Given the description of an element on the screen output the (x, y) to click on. 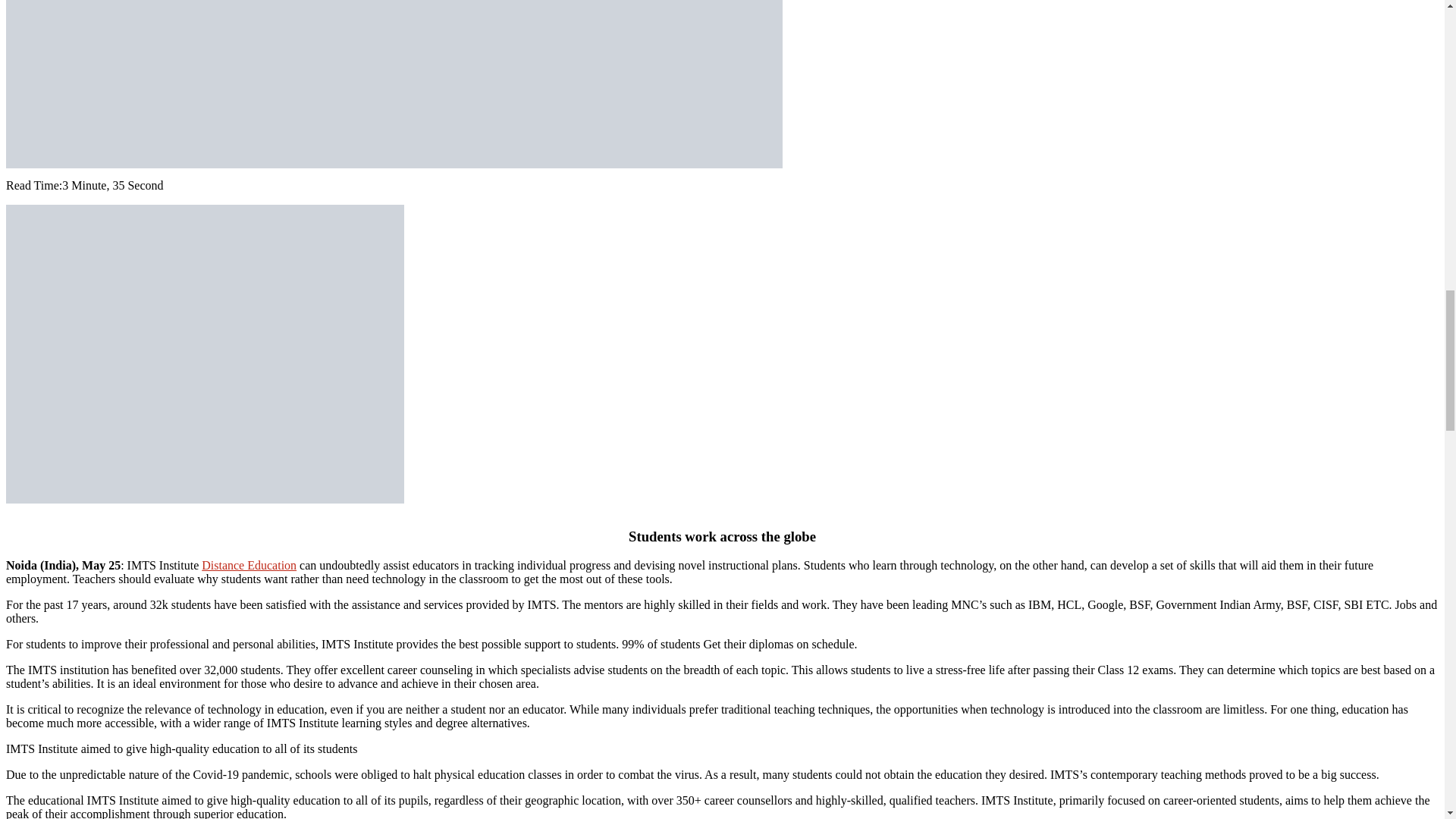
Distance Education (249, 564)
